Given the description of an element on the screen output the (x, y) to click on. 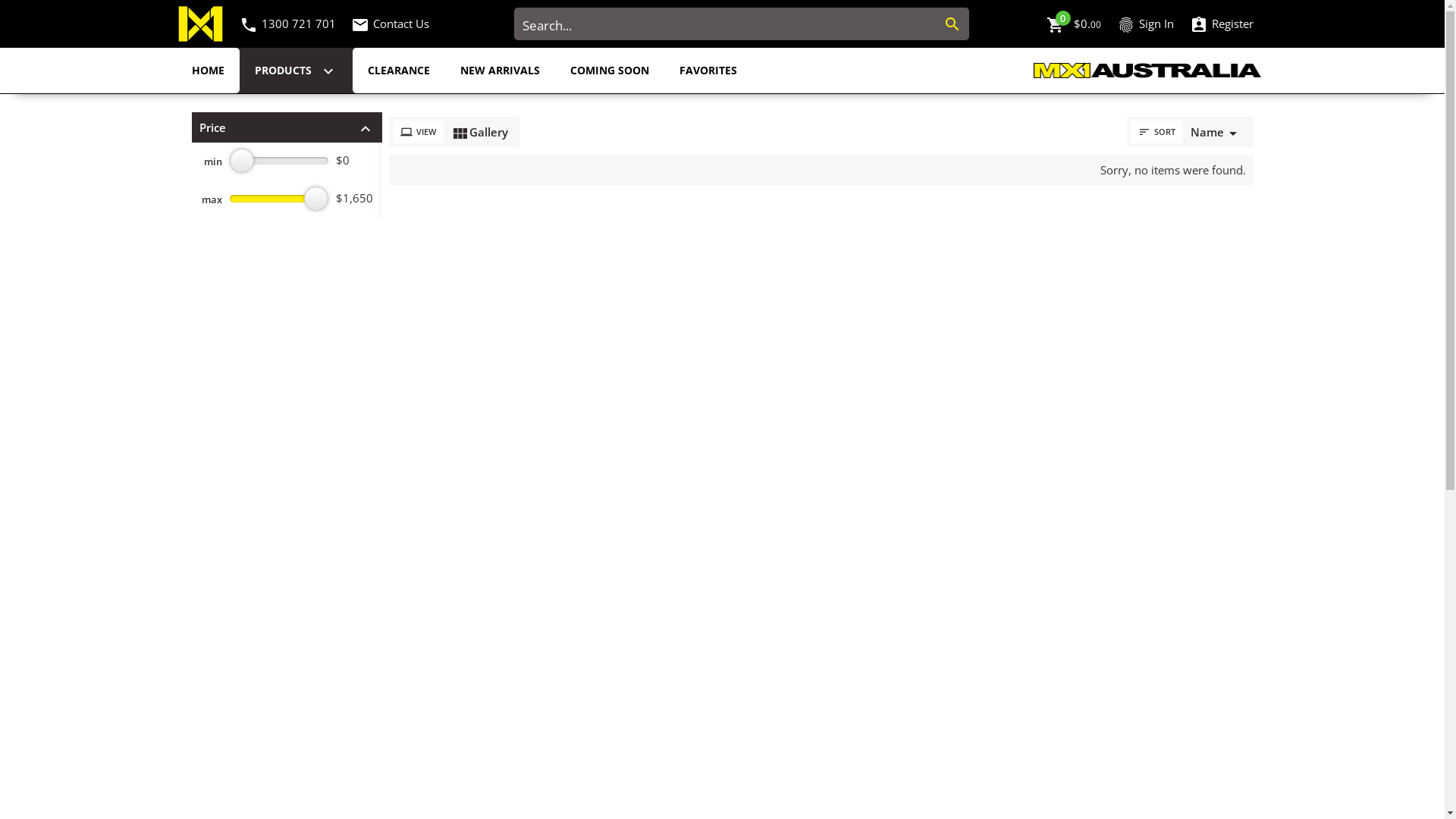
NEW ARRIVALS Element type: text (499, 70)
view_moduleGallery Element type: text (478, 131)
HOME Element type: text (206, 70)
Namearrow_drop_down Element type: text (1216, 131)
assignment_indRegister Element type: text (1220, 23)
FAVORITES Element type: text (708, 70)
1300 721 701 Element type: text (297, 23)
CLEARANCE Element type: text (397, 70)
COMING SOON Element type: text (609, 70)
emailContact Us Element type: text (393, 23)
